Given the description of an element on the screen output the (x, y) to click on. 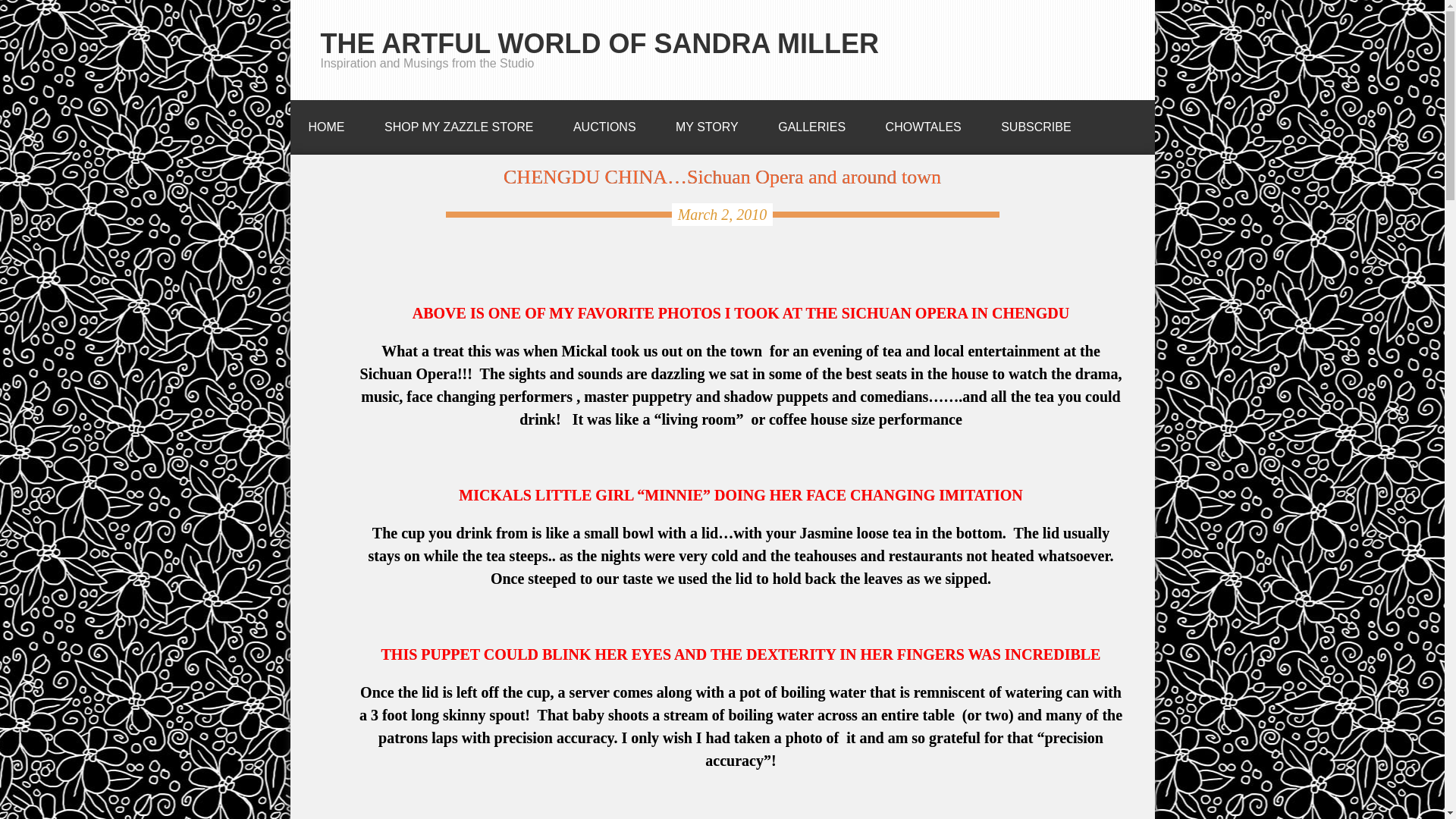
SUBSCRIBE (1035, 122)
HOME (325, 122)
THE ARTFUL WORLD OF SANDRA MILLER (599, 42)
AUCTIONS (603, 122)
Blog Homepage (325, 122)
March 2, 2010 (722, 214)
MY STORY (707, 122)
CHOWTALES (923, 122)
GALLERIES (811, 122)
Chow breed history arcive (923, 122)
